Given the description of an element on the screen output the (x, y) to click on. 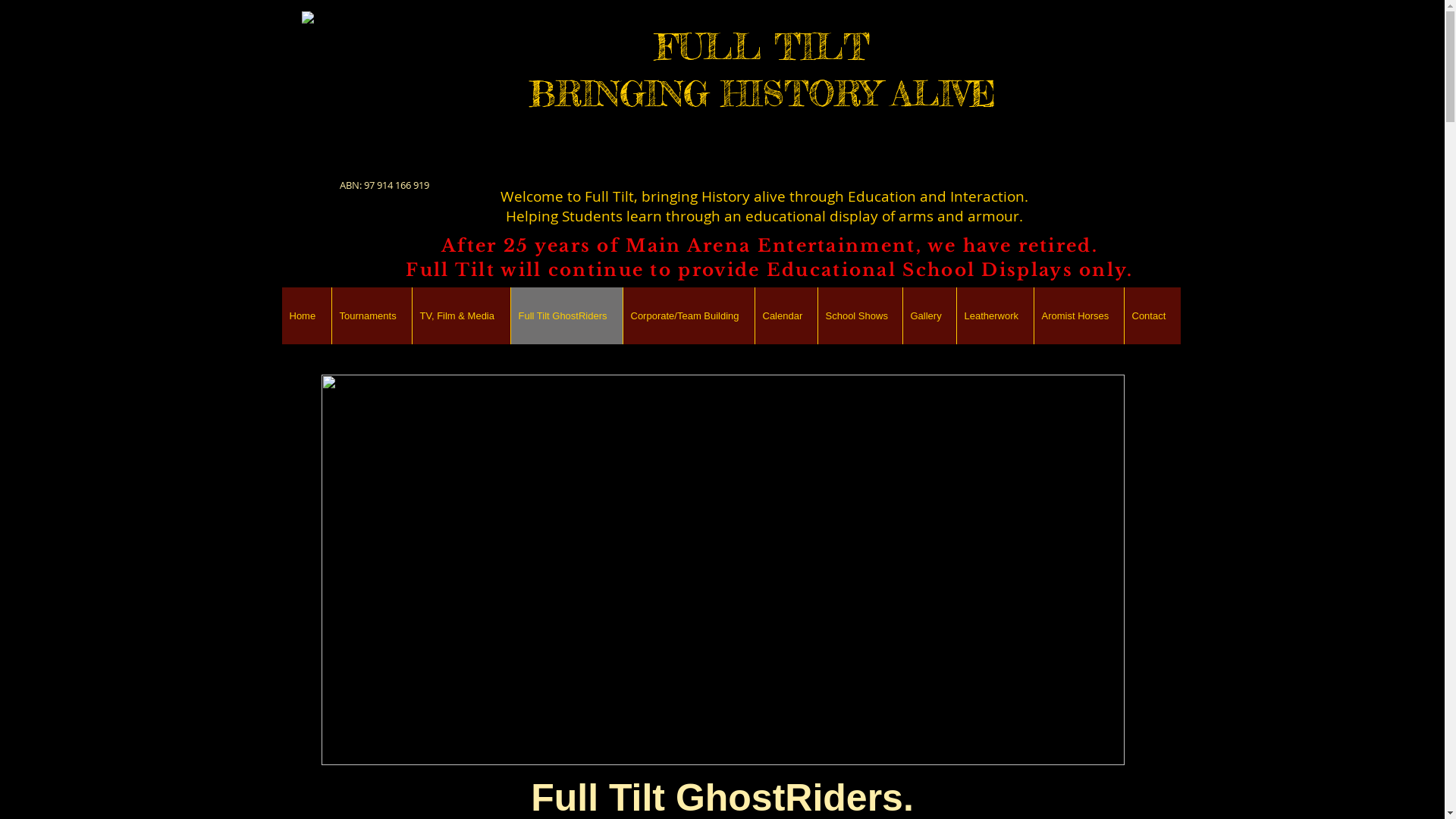
Gallery Element type: text (929, 315)
Contact Element type: text (1151, 315)
TV, Film & Media Element type: text (460, 315)
Aromist Horses Element type: text (1077, 315)
Full Tilt Jousting, Entertainment, Horse Archery Australia Element type: hover (392, 92)
Corporate/Team Building Element type: text (687, 315)
Tournaments Element type: text (370, 315)
Leatherwork Element type: text (993, 315)
Calendar Element type: text (784, 315)
Full Tilt GhostRiders Element type: text (565, 315)
School Shows Element type: text (859, 315)
Home Element type: text (306, 315)
